Given the description of an element on the screen output the (x, y) to click on. 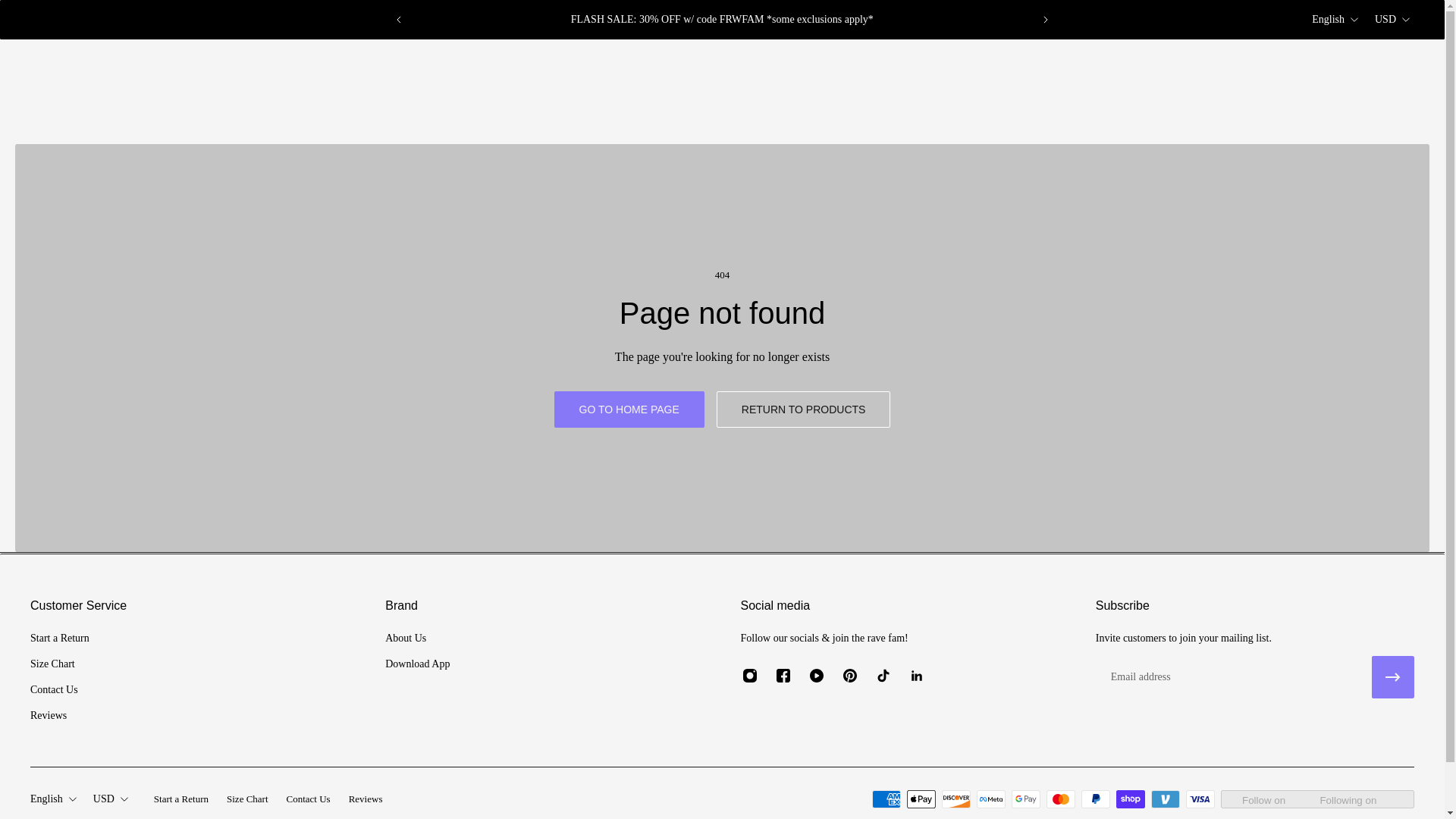
RETURN TO PRODUCTS (803, 409)
Reviews (59, 715)
Start a Return (59, 638)
Reviews (365, 799)
Size Chart (59, 664)
GO TO HOME PAGE (629, 409)
About Us (417, 638)
SKIP TO CONTENT (24, 21)
Contact Us (59, 689)
Contact Us (308, 799)
